Given the description of an element on the screen output the (x, y) to click on. 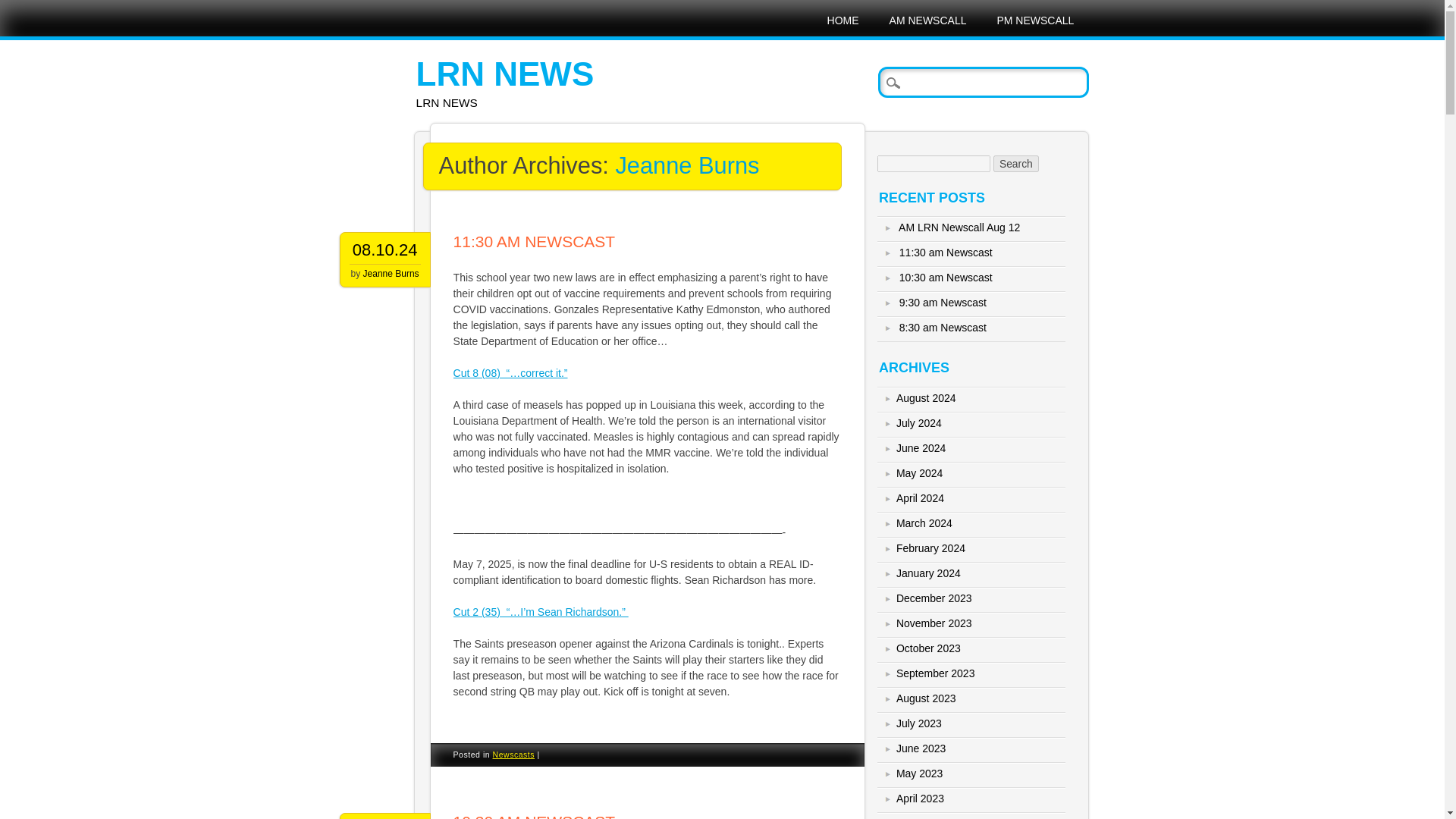
Search (1015, 163)
AM NEWSCALL (928, 20)
PM NEWSCALL (1035, 20)
Jeanne Burns (686, 165)
View all posts by Jeanne Burns (390, 273)
Search (22, 8)
LRN News (505, 73)
Newscasts (514, 754)
11:30 AM NEWSCAST (533, 241)
Jeanne Burns (390, 273)
